Given the description of an element on the screen output the (x, y) to click on. 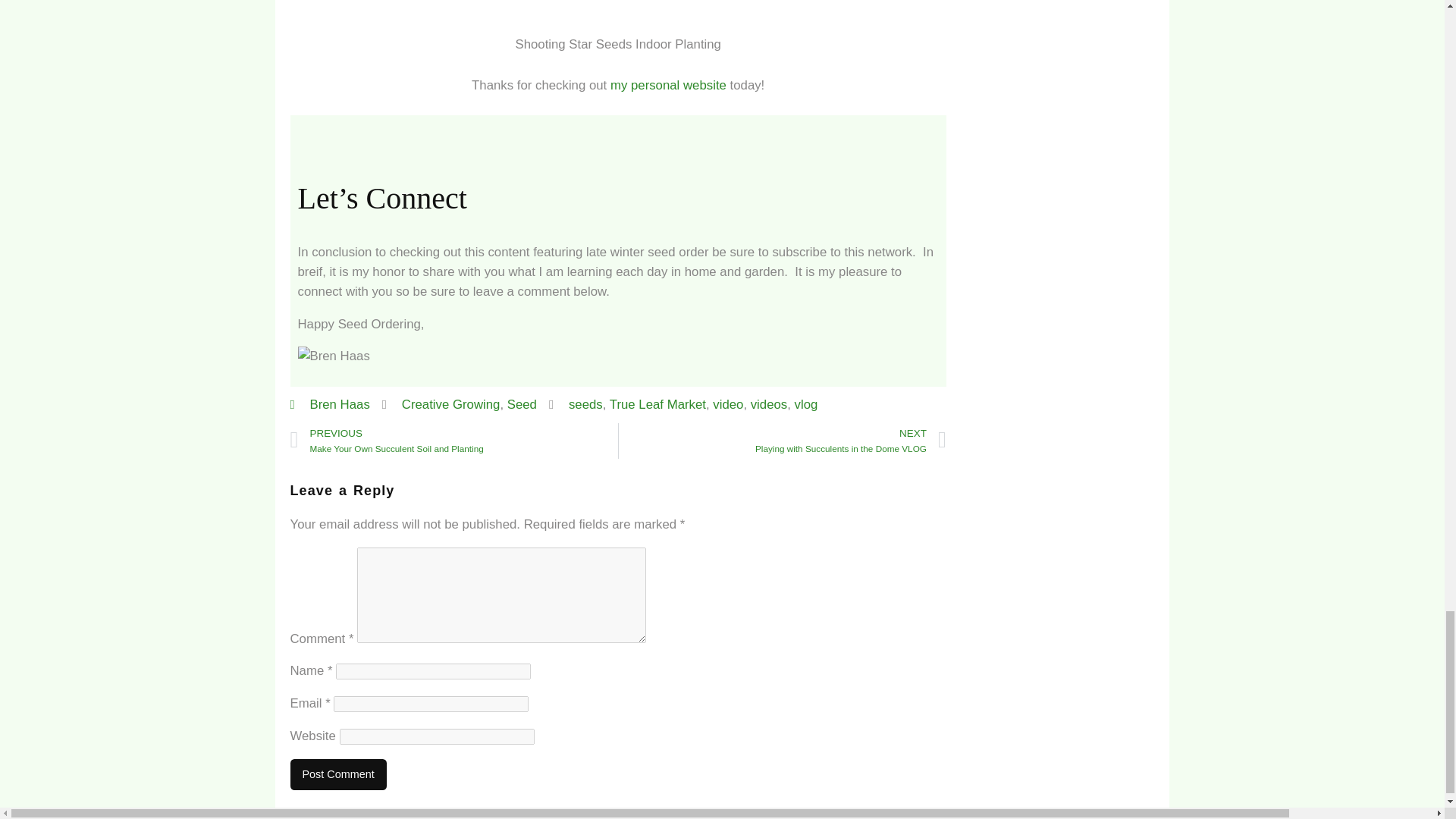
Bren Haas (329, 404)
my personal website (668, 84)
Creative Growing (450, 404)
video (782, 440)
Seed (727, 404)
True Leaf Market (521, 404)
vlog (658, 404)
seeds (806, 404)
videos (585, 404)
